Given the description of an element on the screen output the (x, y) to click on. 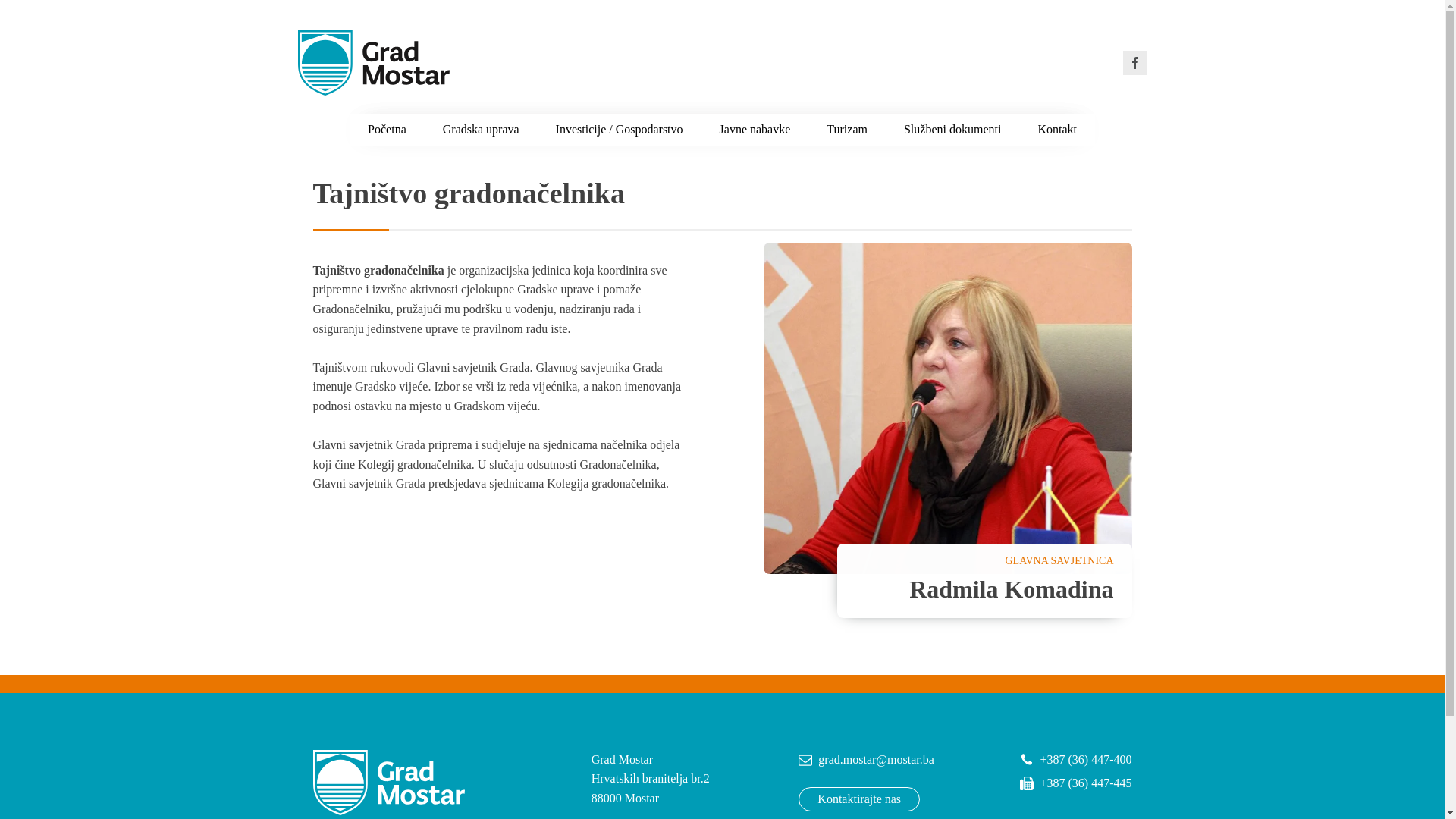
grad.mostar@mostar.ba Element type: text (865, 759)
Gradska uprava Element type: text (480, 129)
+387 (36) 447-445 Element type: text (1075, 783)
Investicije / Gospodarstvo Element type: text (619, 129)
Turizam Element type: text (846, 129)
Javne nabavke Element type: text (755, 129)
Kontaktirajte nas Element type: text (858, 799)
Kontakt Element type: text (1057, 129)
+387 (36) 447-400 Element type: text (1075, 759)
